Given the description of an element on the screen output the (x, y) to click on. 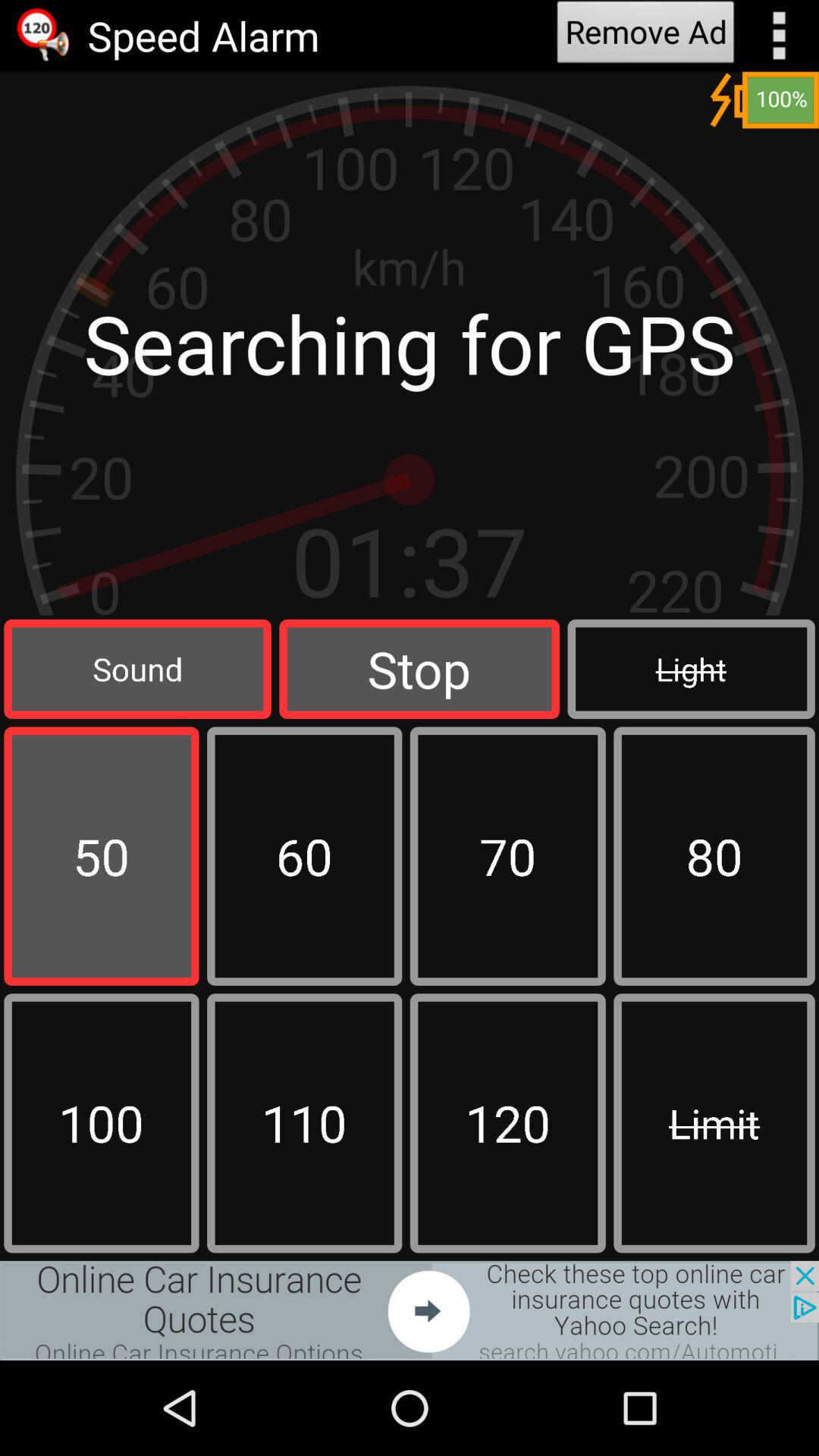
advertisement banner (409, 1310)
